Given the description of an element on the screen output the (x, y) to click on. 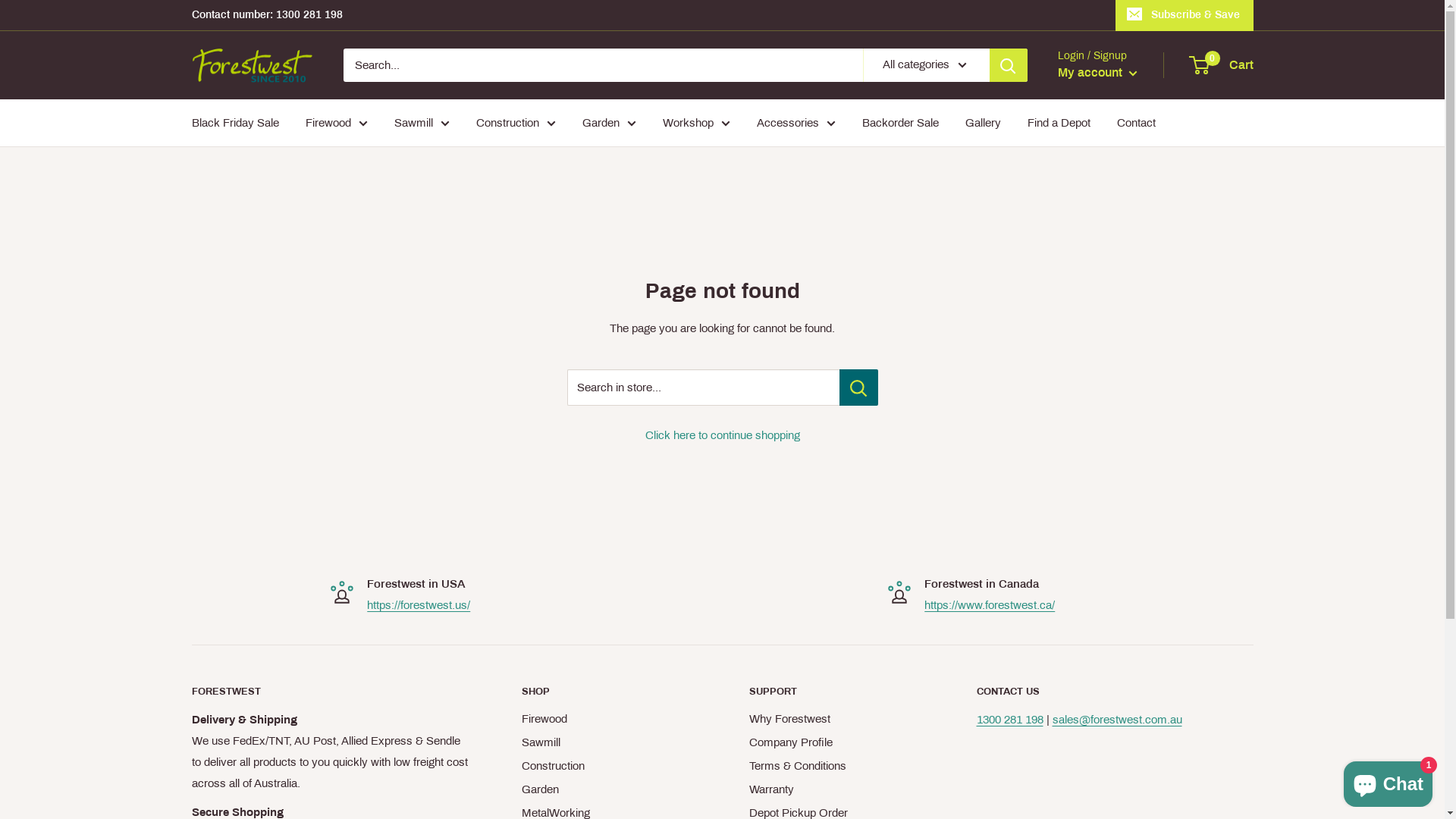
0
Cart Element type: text (1221, 64)
Sawmill Element type: text (421, 122)
Gallery Element type: text (982, 122)
Company Profile Element type: text (836, 742)
Black Friday Sale Element type: text (234, 122)
Sawmill Element type: text (608, 742)
Accessories Element type: text (795, 122)
Firewood Element type: text (608, 719)
My account Element type: text (1096, 72)
Backorder Sale Element type: text (899, 122)
https://www.forestwest.ca/ Element type: text (989, 605)
Shopify online store chat Element type: hover (1388, 780)
Construction Element type: text (515, 122)
Terms & Conditions Element type: text (836, 766)
SHOP Element type: text (608, 691)
SUPPORT Element type: text (836, 691)
Firewood Element type: text (335, 122)
Subscribe & Save Element type: text (1183, 15)
Garden Element type: text (608, 789)
Construction Element type: text (608, 766)
sales@forestwest.com.au Element type: text (1117, 719)
Contact Element type: text (1135, 122)
FORESTWEST Element type: text (329, 691)
Forestwest AU Element type: text (251, 65)
1300 281 198 Element type: text (1009, 719)
CONTACT US Element type: text (1114, 691)
Find a Depot Element type: text (1057, 122)
Workshop Element type: text (696, 122)
Garden Element type: text (609, 122)
Why Forestwest Element type: text (836, 719)
Warranty Element type: text (836, 789)
https://forestwest.us/ Element type: text (418, 605)
Click here to continue shopping Element type: text (721, 435)
